Given the description of an element on the screen output the (x, y) to click on. 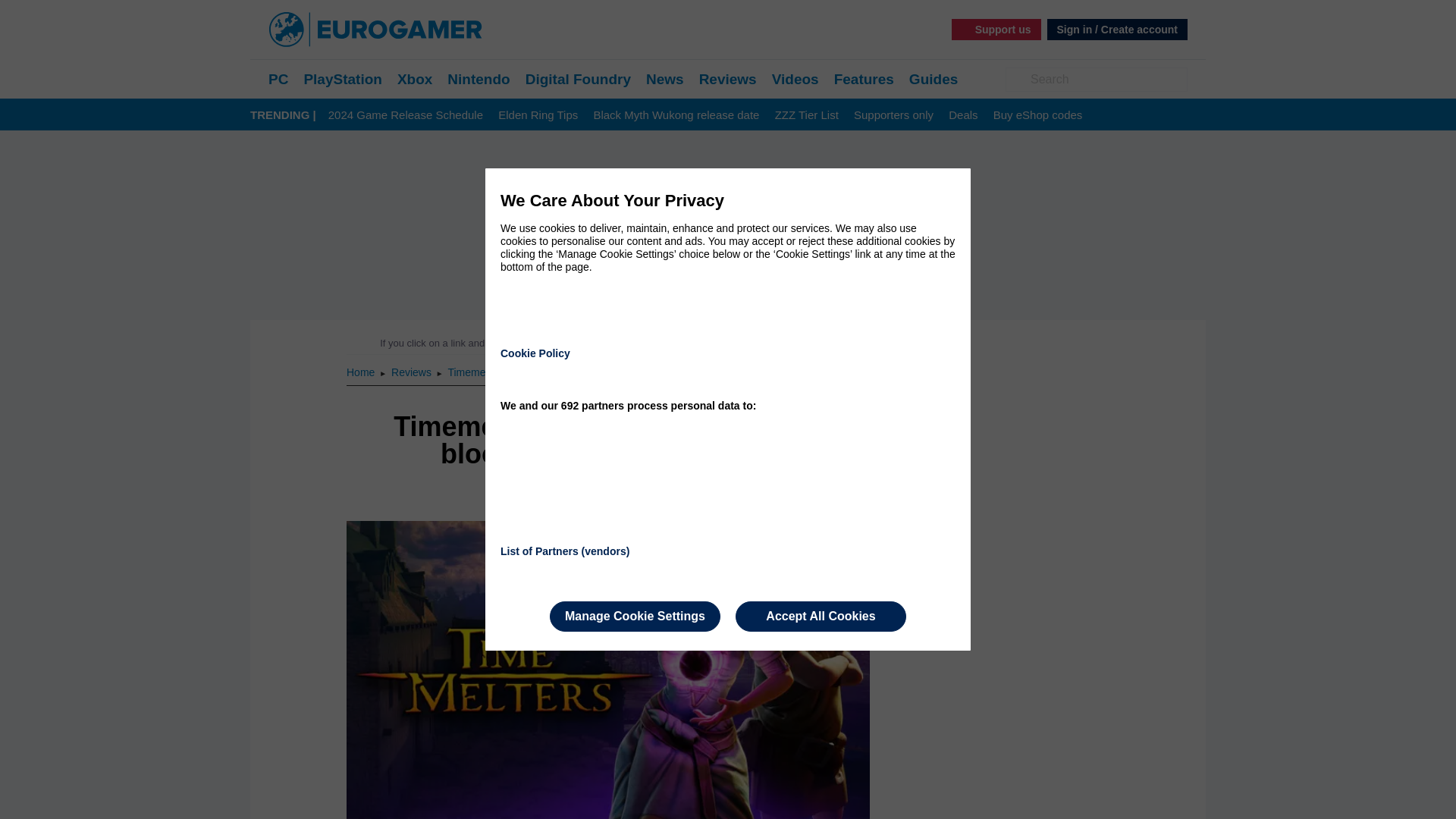
Supporters only (893, 114)
Xbox (414, 78)
News (665, 78)
Support us (996, 29)
Home (361, 372)
Features (863, 78)
Videos (794, 78)
Buy eShop codes (1037, 114)
ZZZ Tier List (806, 114)
Supporters only (893, 114)
